Given the description of an element on the screen output the (x, y) to click on. 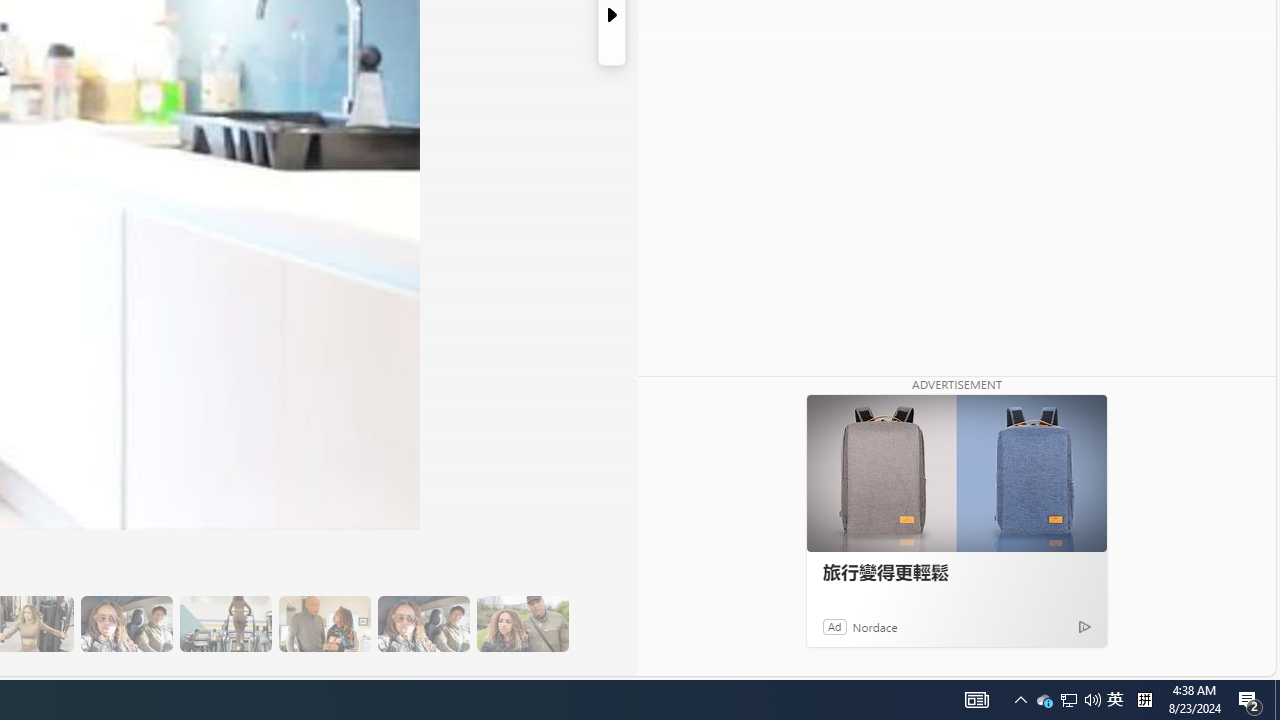
18 It's More Fun Doing It with Someone Else (324, 624)
20 Overall, It Will Improve Your Health (522, 624)
18 It's More Fun Doing It with Someone Else (324, 624)
